Given the description of an element on the screen output the (x, y) to click on. 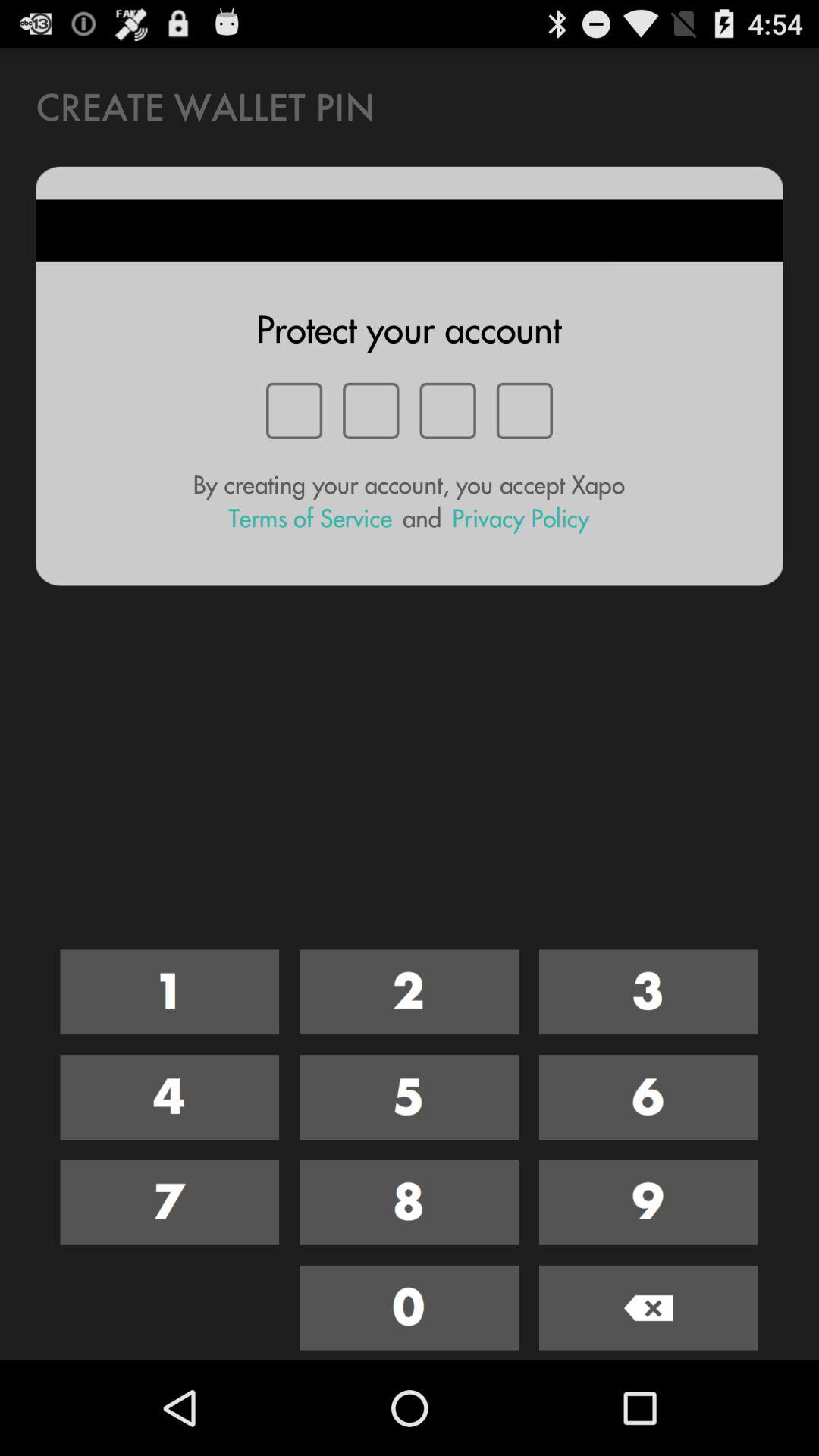
number 1 key (169, 991)
